Given the description of an element on the screen output the (x, y) to click on. 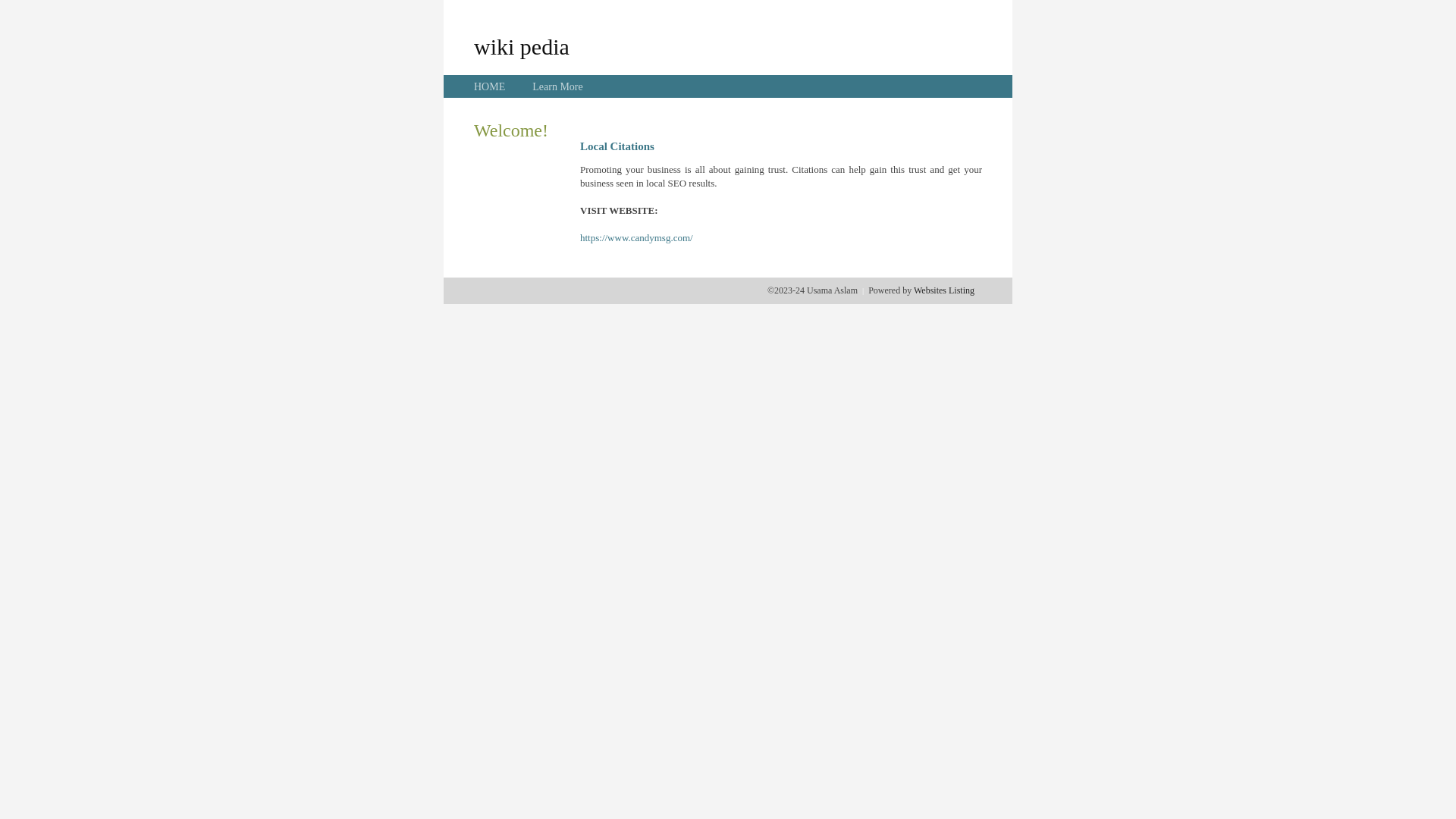
https://www.candymsg.com/ Element type: text (636, 237)
Learn More Element type: text (557, 86)
HOME Element type: text (489, 86)
wiki pedia Element type: text (521, 46)
Websites Listing Element type: text (943, 290)
